Given the description of an element on the screen output the (x, y) to click on. 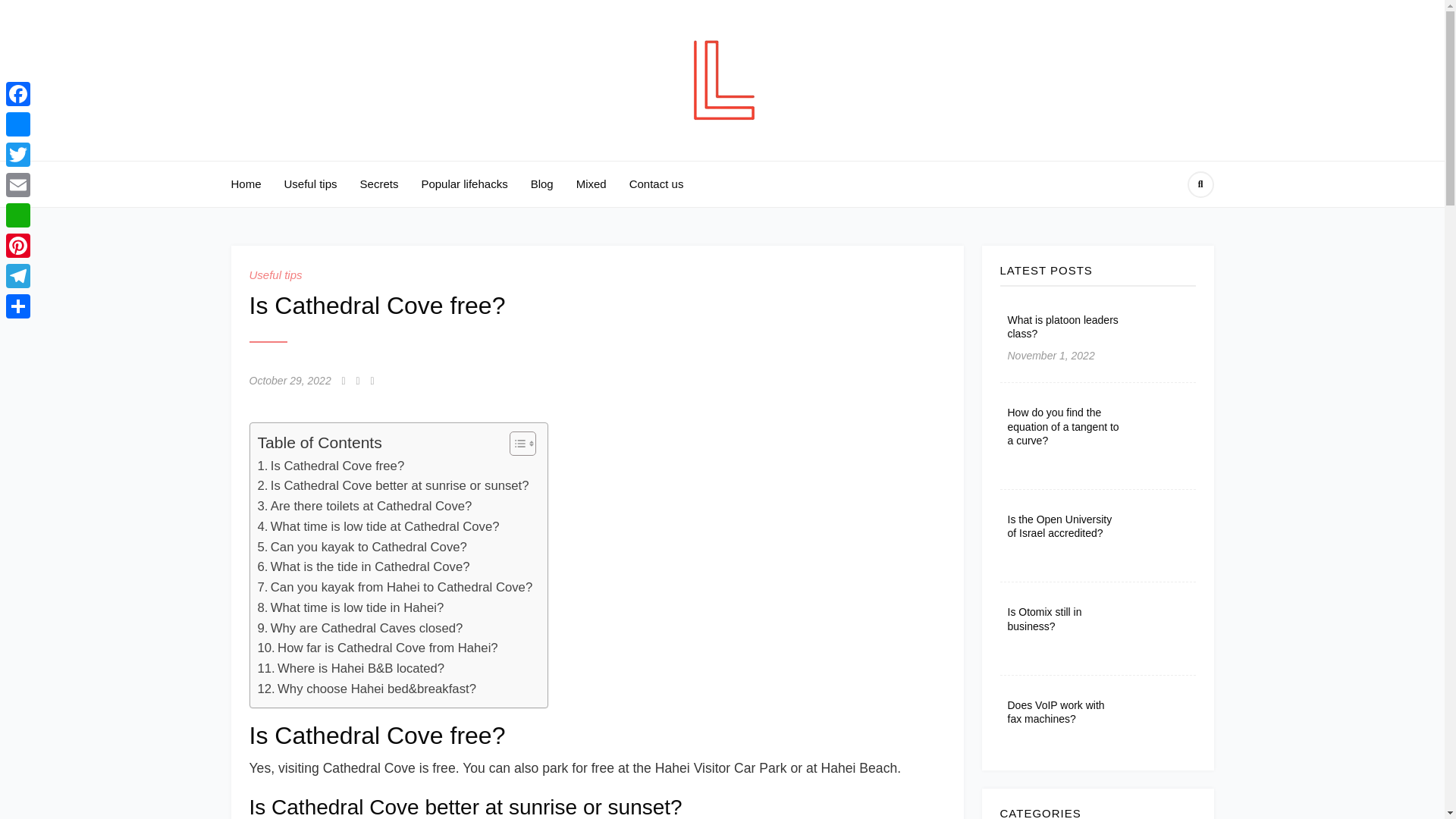
Facebook (17, 93)
What time is low tide in Hahei? (350, 608)
Popular lifehacks (463, 184)
Useful tips (310, 184)
Why are Cathedral Caves closed? (360, 629)
What time is low tide at Cathedral Cove? (378, 526)
Are there toilets at Cathedral Cove? (364, 506)
Why are Cathedral Caves closed? (360, 629)
Is Cathedral Cove better at sunrise or sunset? (393, 485)
Useful tips (274, 274)
What time is low tide in Hahei? (350, 608)
Can you kayak to Cathedral Cove? (362, 547)
What is the tide in Cathedral Cove? (363, 567)
Can you kayak from Hahei to Cathedral Cove? (394, 588)
Are there toilets at Cathedral Cove? (364, 506)
